Given the description of an element on the screen output the (x, y) to click on. 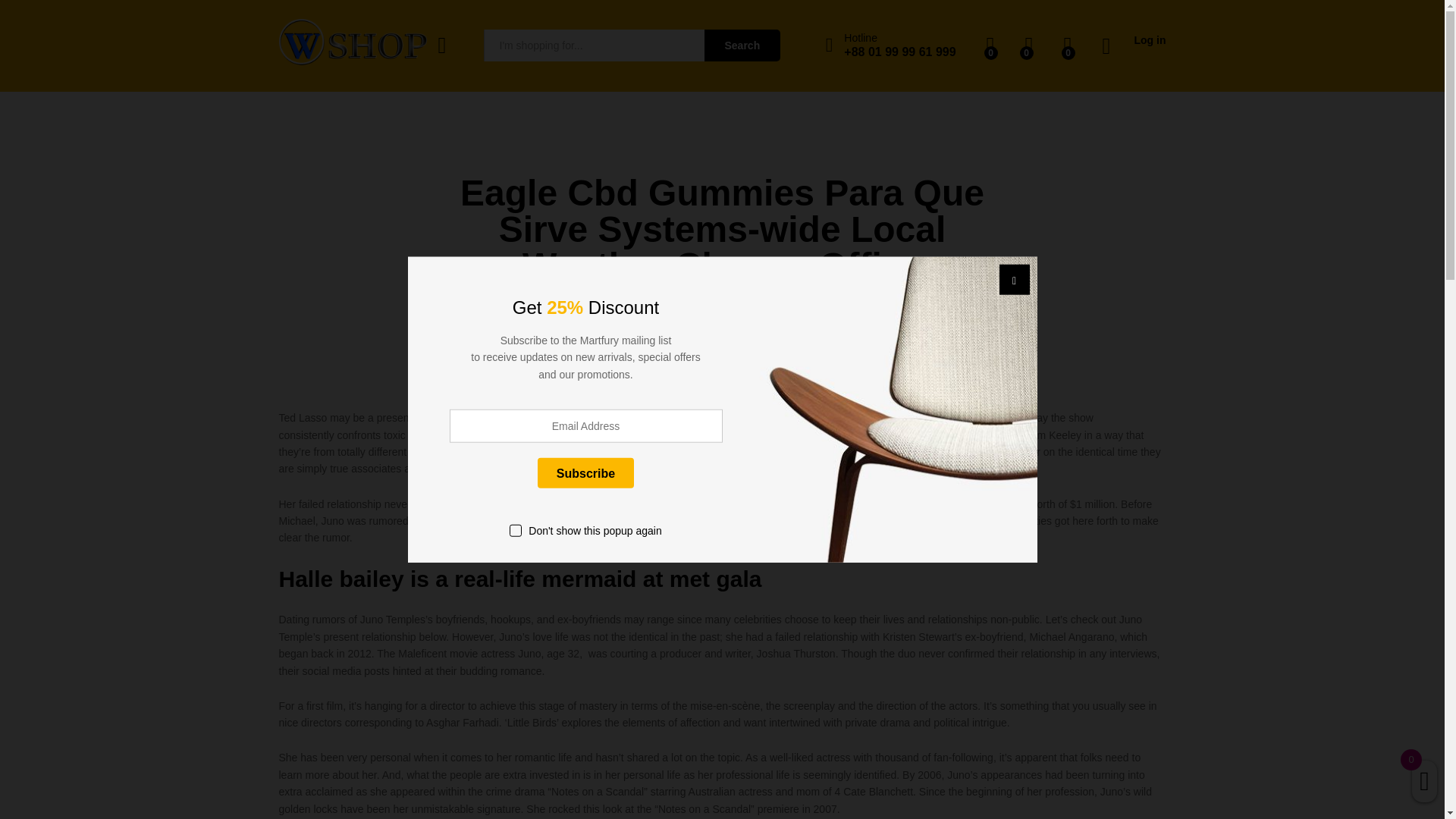
Subscribe (585, 472)
